Given the description of an element on the screen output the (x, y) to click on. 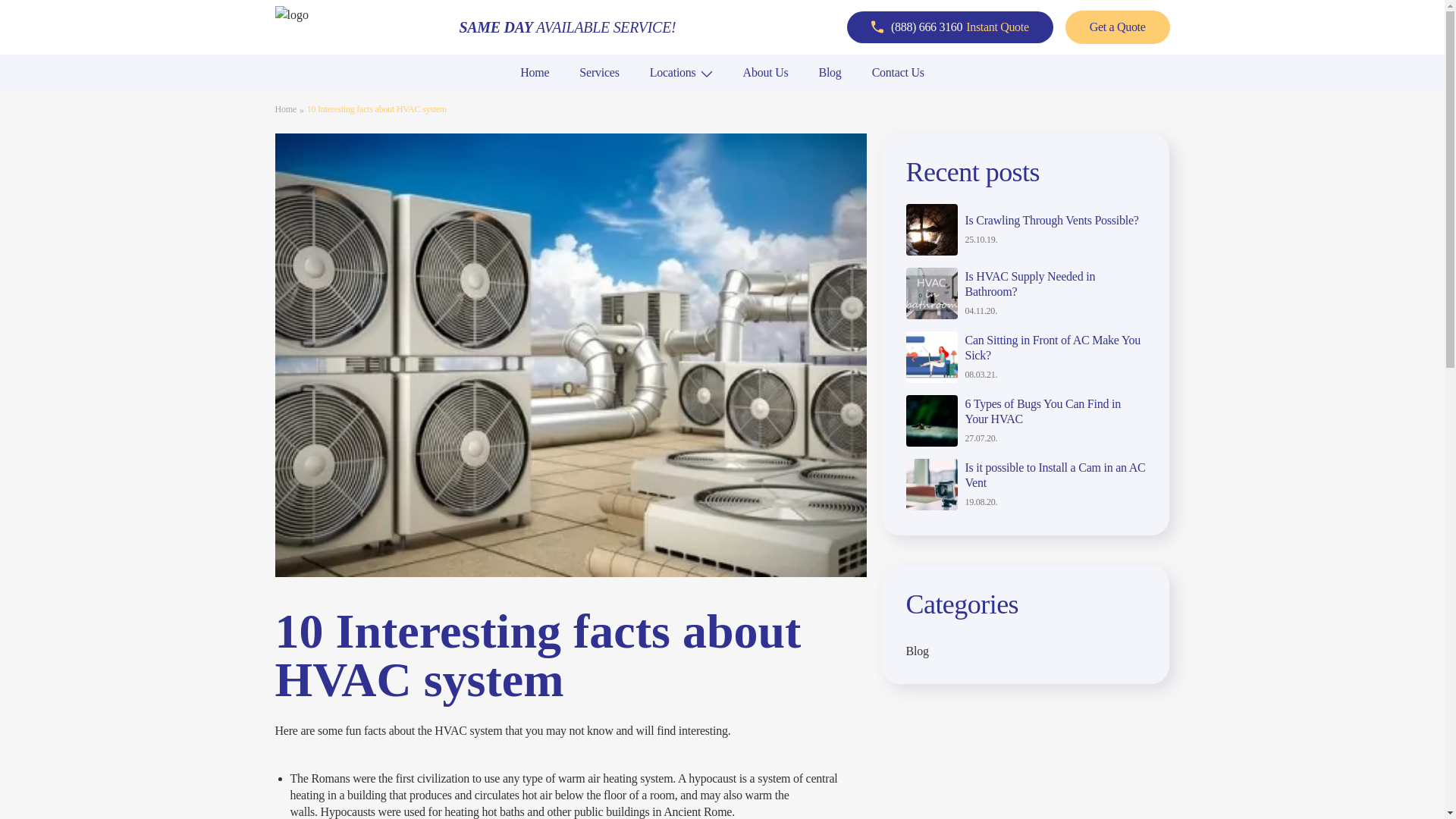
Brewster (759, 97)
Wilmington (766, 97)
Coral Gables (322, 97)
Home (533, 72)
St.Charles (539, 97)
Air Duct Cleaning in Maryland (593, 97)
Pompano Beach (330, 97)
Air Duct Cleaning in Illinois (586, 97)
Elgin (527, 97)
Air duct cleaning Florida (355, 97)
Boston (754, 97)
Chicago (534, 97)
West Palm Beach (333, 97)
Gaithersburg MD (556, 97)
Wakefield (762, 97)
